Given the description of an element on the screen output the (x, y) to click on. 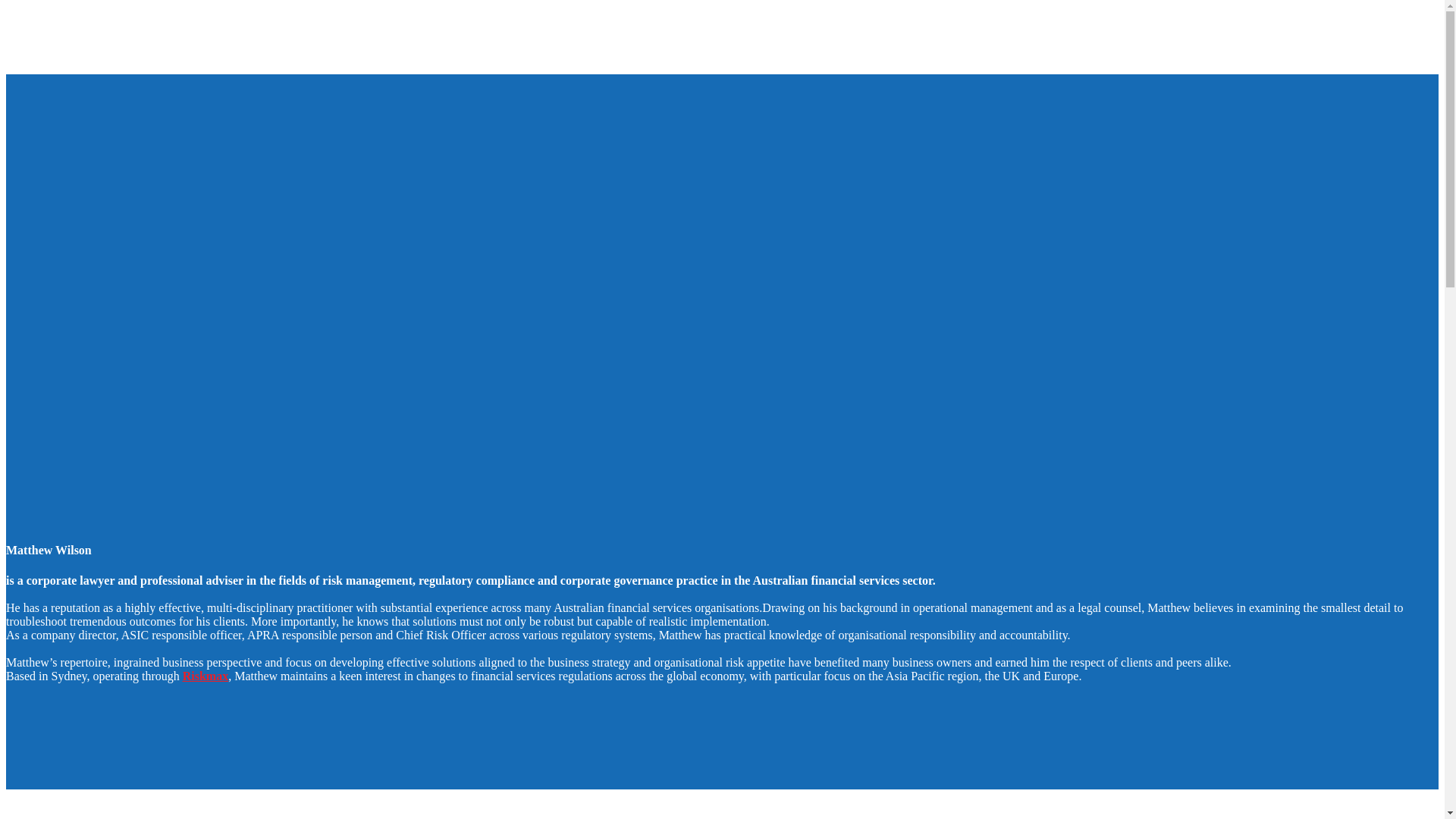
Riskmax Element type: text (205, 675)
